Given the description of an element on the screen output the (x, y) to click on. 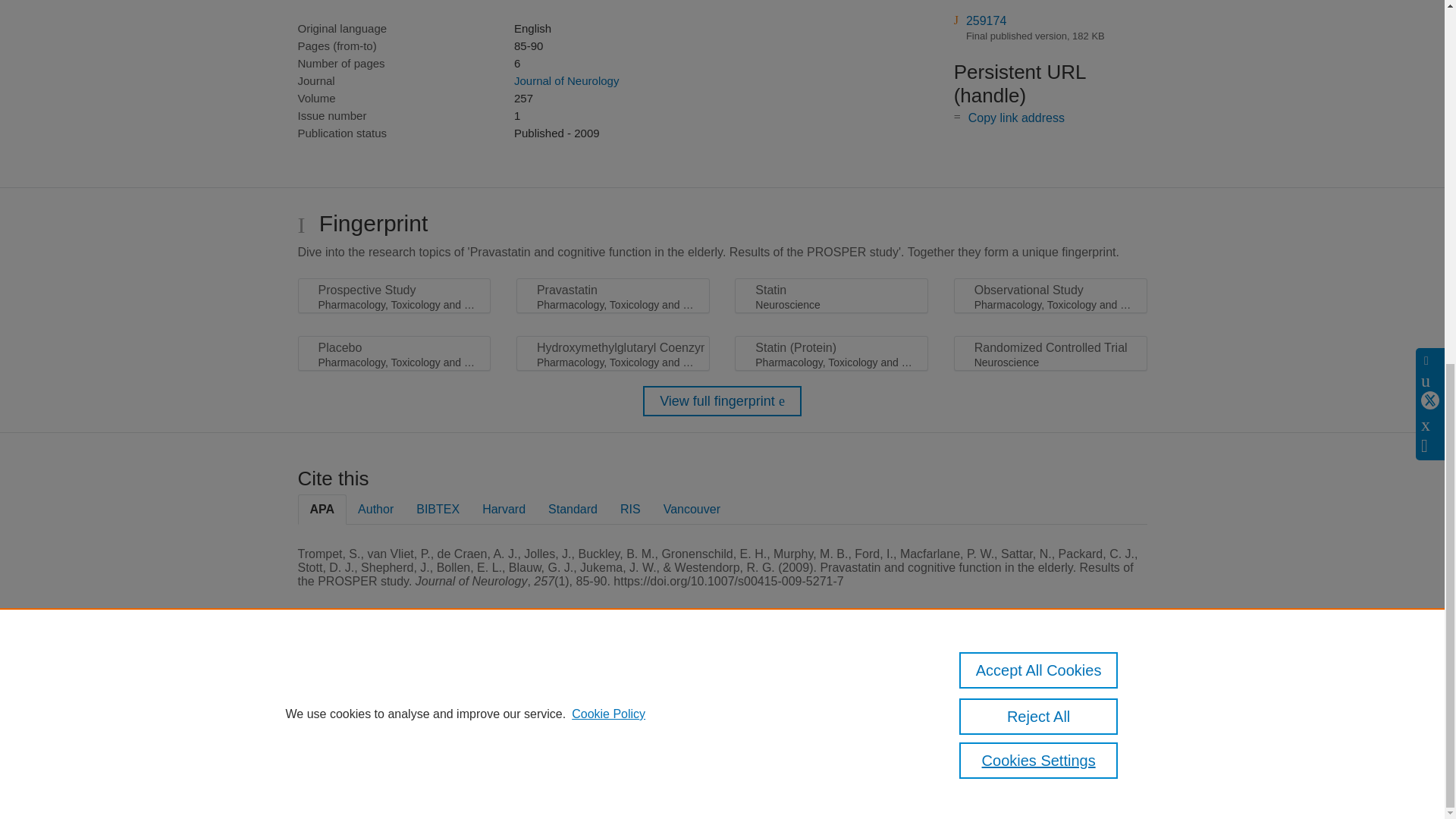
View full fingerprint (722, 400)
Copy link address (1016, 117)
259174 (986, 20)
Journal of Neurology (565, 80)
